Given the description of an element on the screen output the (x, y) to click on. 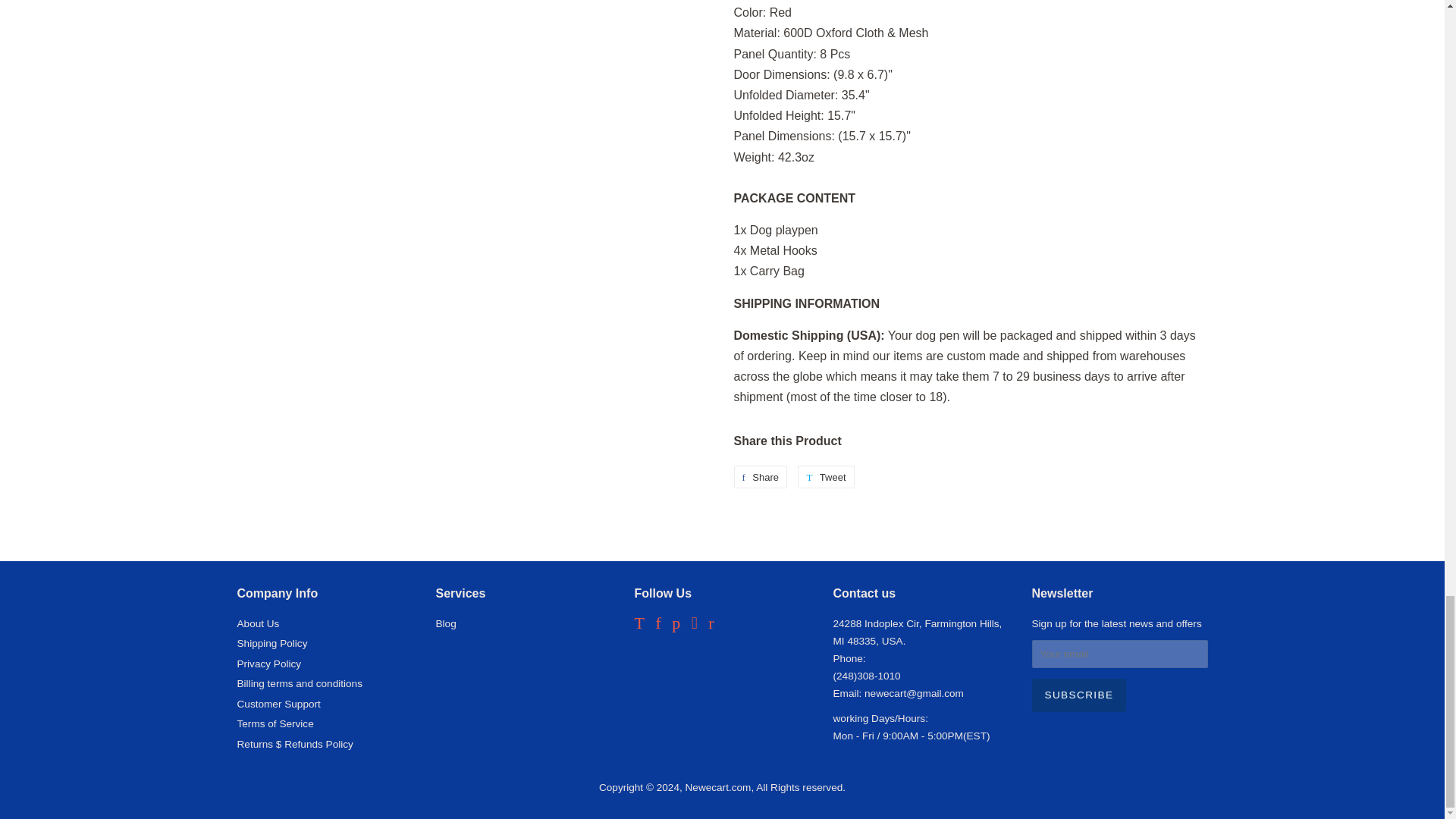
Newecart on Pinterest (675, 624)
Newecart on Twitter (638, 624)
Newecart on Snapchat (694, 624)
Subscribe (1077, 694)
Newecart on Facebook (658, 624)
Share on Facebook (760, 477)
Newecart on RSS (710, 624)
Tweet on Twitter (825, 477)
